Given the description of an element on the screen output the (x, y) to click on. 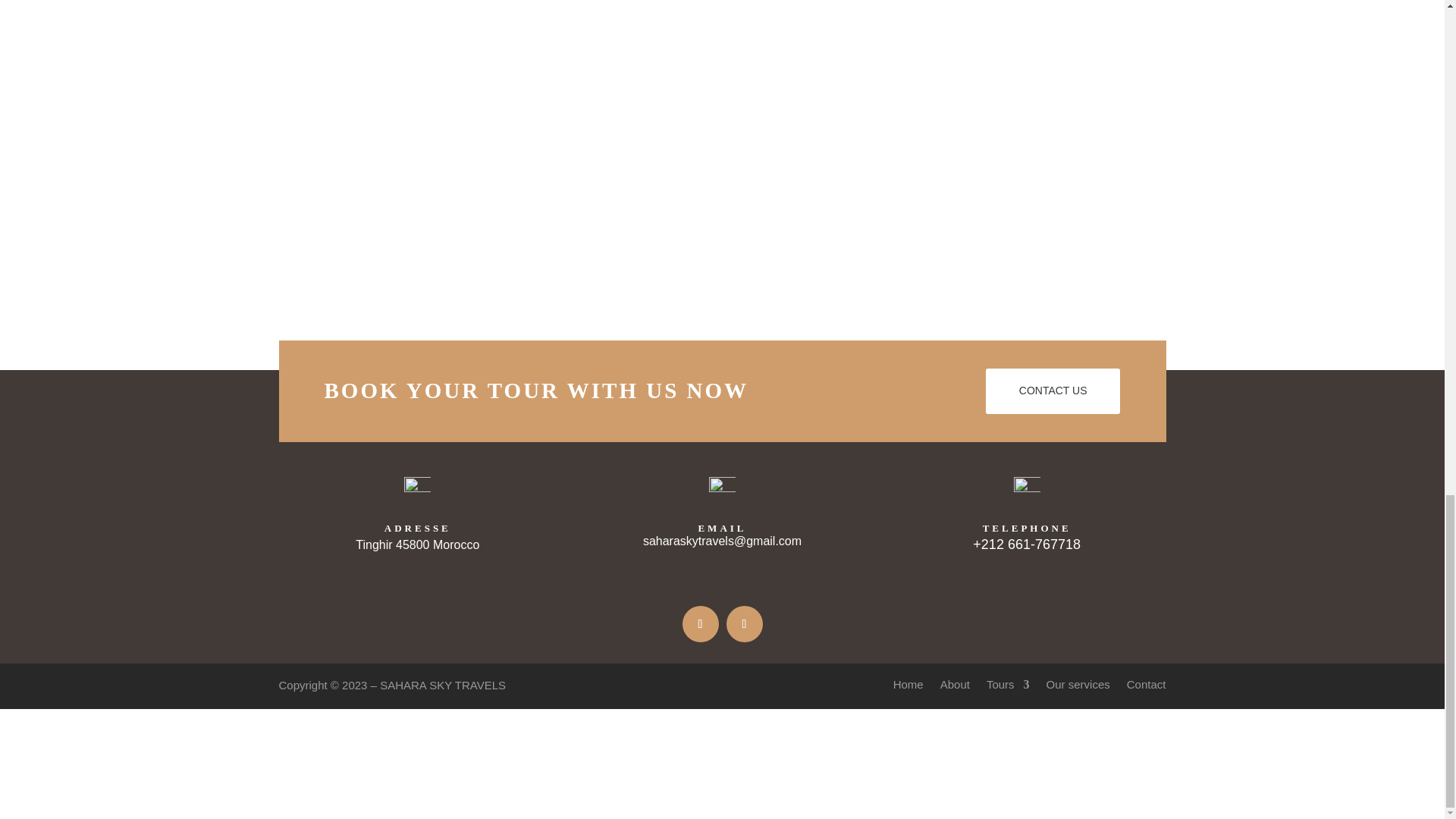
Tours (1008, 686)
Suivez sur Instagram (744, 624)
Home (908, 686)
About (954, 686)
Our services (1077, 686)
Suivez sur Facebook (700, 624)
Contact (1146, 686)
CONTACT US (1053, 391)
